Given the description of an element on the screen output the (x, y) to click on. 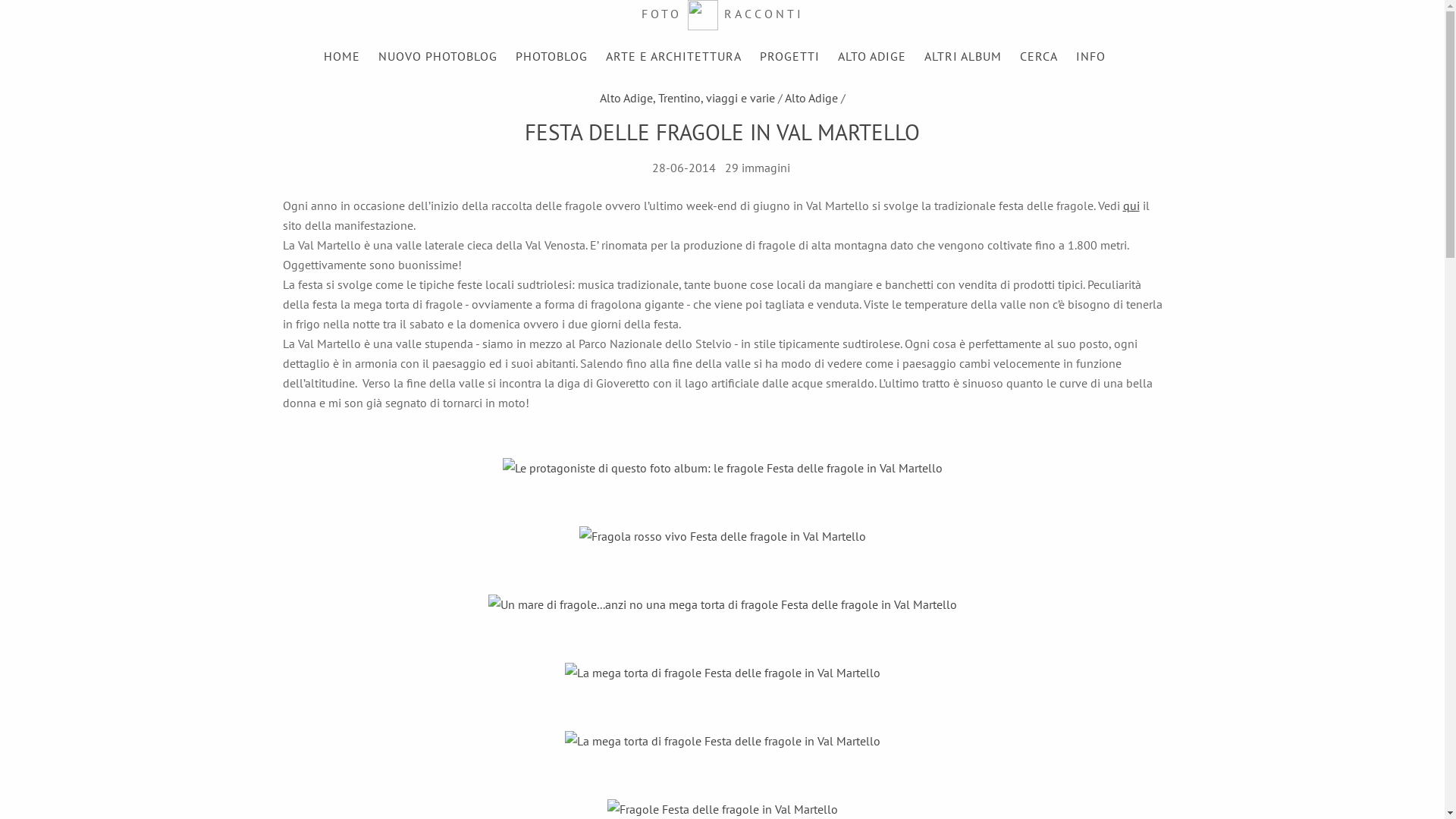
ALTO ADIGE Element type: text (871, 56)
Alto Adige Element type: text (810, 97)
Alto Adige, Trentino, viaggi e varie Element type: text (686, 97)
FOTO RACCONTI Element type: text (722, 13)
Un mare di fragole...anzi no una mega torta di fragole Element type: hover (722, 603)
ARTE E ARCHITETTURA Element type: text (673, 56)
Fragole Element type: hover (721, 808)
INFO Element type: text (1090, 56)
Knottnkino Element type: hover (272, 97)
ALTRI ALBUM Element type: text (962, 56)
La mega torta di fragole Element type: hover (721, 672)
La mega torta di fragole Element type: hover (721, 740)
HOME Element type: text (341, 56)
Le protagoniste di questo foto album: le fragole Element type: hover (721, 467)
CERCA Element type: text (1038, 56)
qui Element type: text (1130, 205)
Virgolo Element type: hover (1170, 97)
Fragola rosso vivo Element type: hover (722, 535)
PROGETTI Element type: text (789, 56)
PHOTOBLOG Element type: text (551, 56)
NUOVO PHOTOBLOG Element type: text (437, 56)
